Given the description of an element on the screen output the (x, y) to click on. 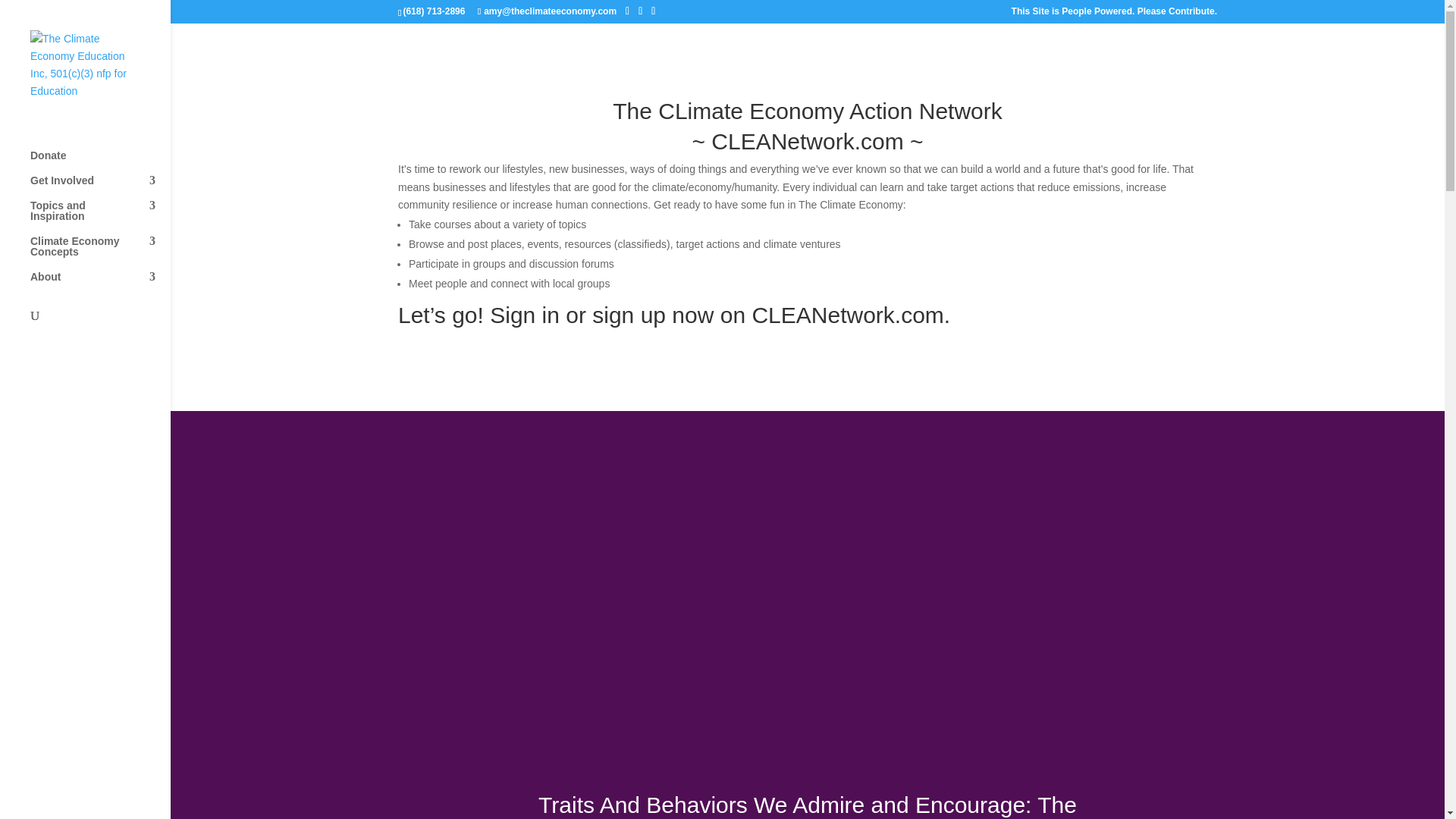
This Site is People Powered. Please Contribute. (1114, 14)
Climate Economy Concepts (100, 253)
Topics and Inspiration (100, 217)
CLEANetwork.com (806, 140)
About (100, 283)
Get Involved (100, 187)
Donate (100, 162)
